Given the description of an element on the screen output the (x, y) to click on. 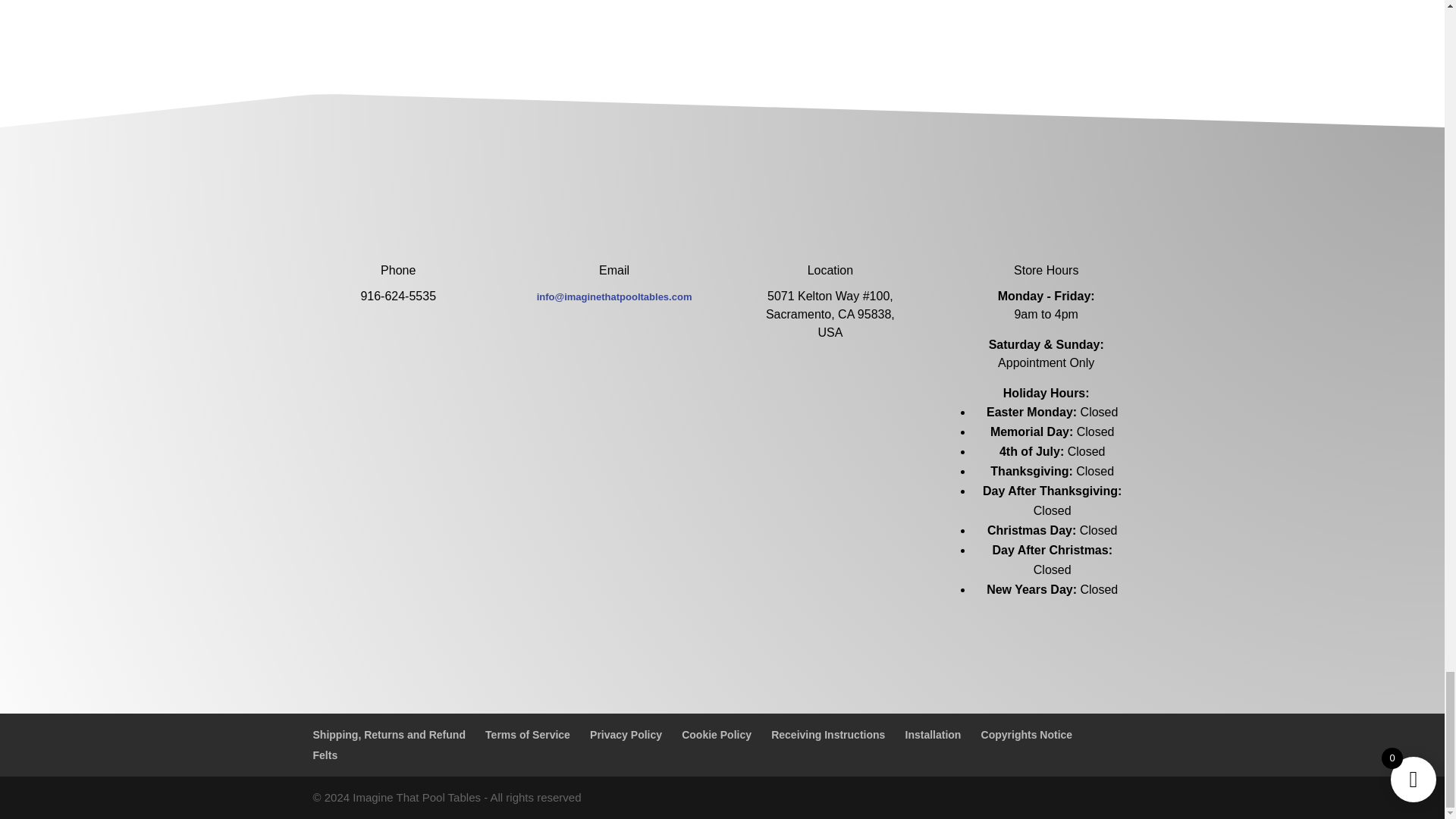
Receiving Instructions (828, 734)
Terms of Service (527, 734)
Cookie Policy (716, 734)
Copyrights Notice (1027, 734)
Installation (932, 734)
Shipping, Returns and Refund (388, 734)
Privacy Policy (625, 734)
Felts (325, 755)
